Given the description of an element on the screen output the (x, y) to click on. 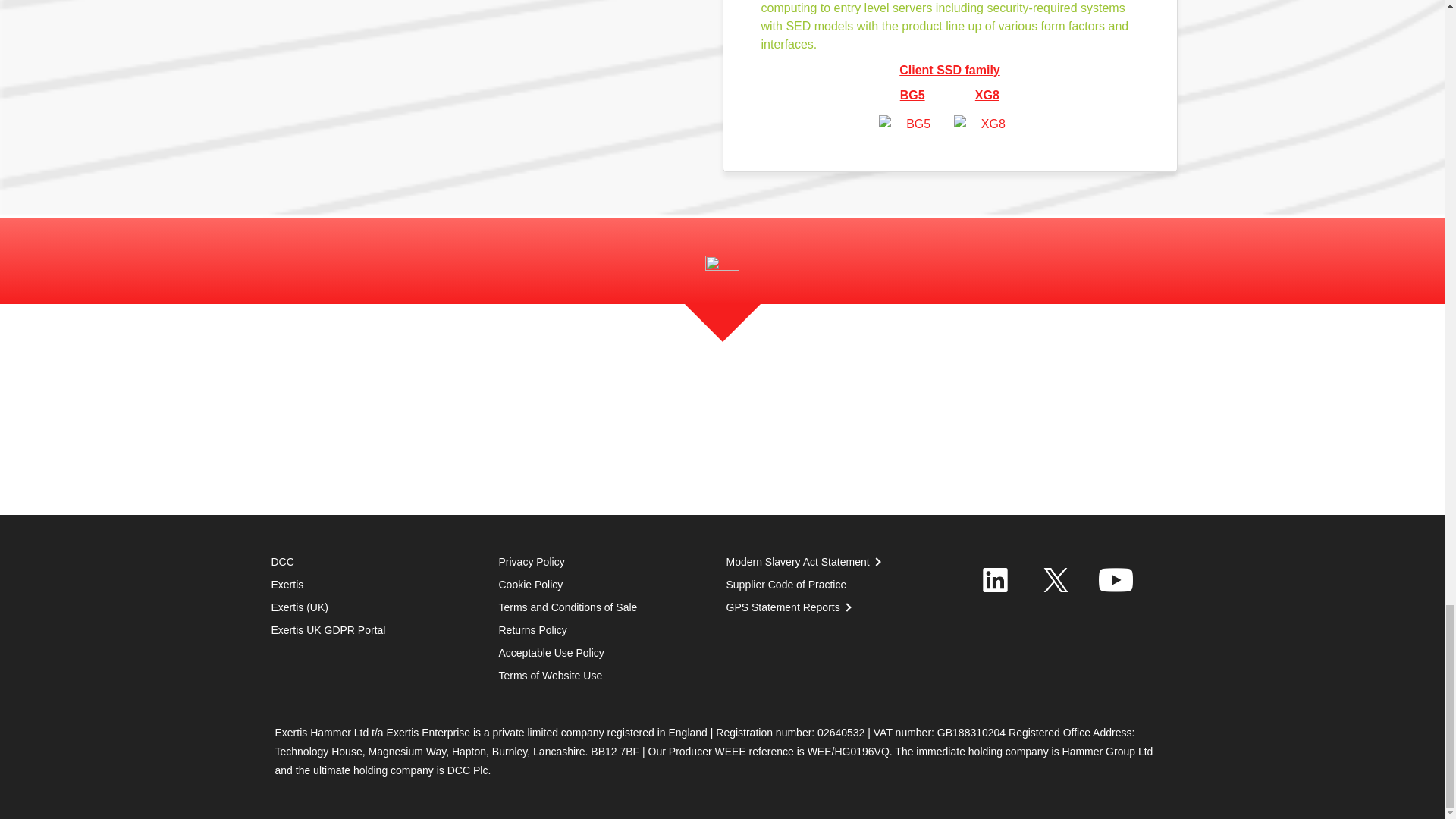
Connect to Exertis (995, 579)
DCC (282, 562)
Terms and Conditions of Sale (533, 630)
Exertis Privacy Policy (531, 562)
Exertis Cookie Policy (531, 584)
Connect to Exertis (1056, 579)
Exertis (287, 584)
Acceptable Use Policy (551, 653)
Terms of Website Use (550, 675)
Connect to Exertis (1115, 579)
Exertis UK GDPR Portal (327, 630)
Terms and Conditions of Sale (568, 607)
